Given the description of an element on the screen output the (x, y) to click on. 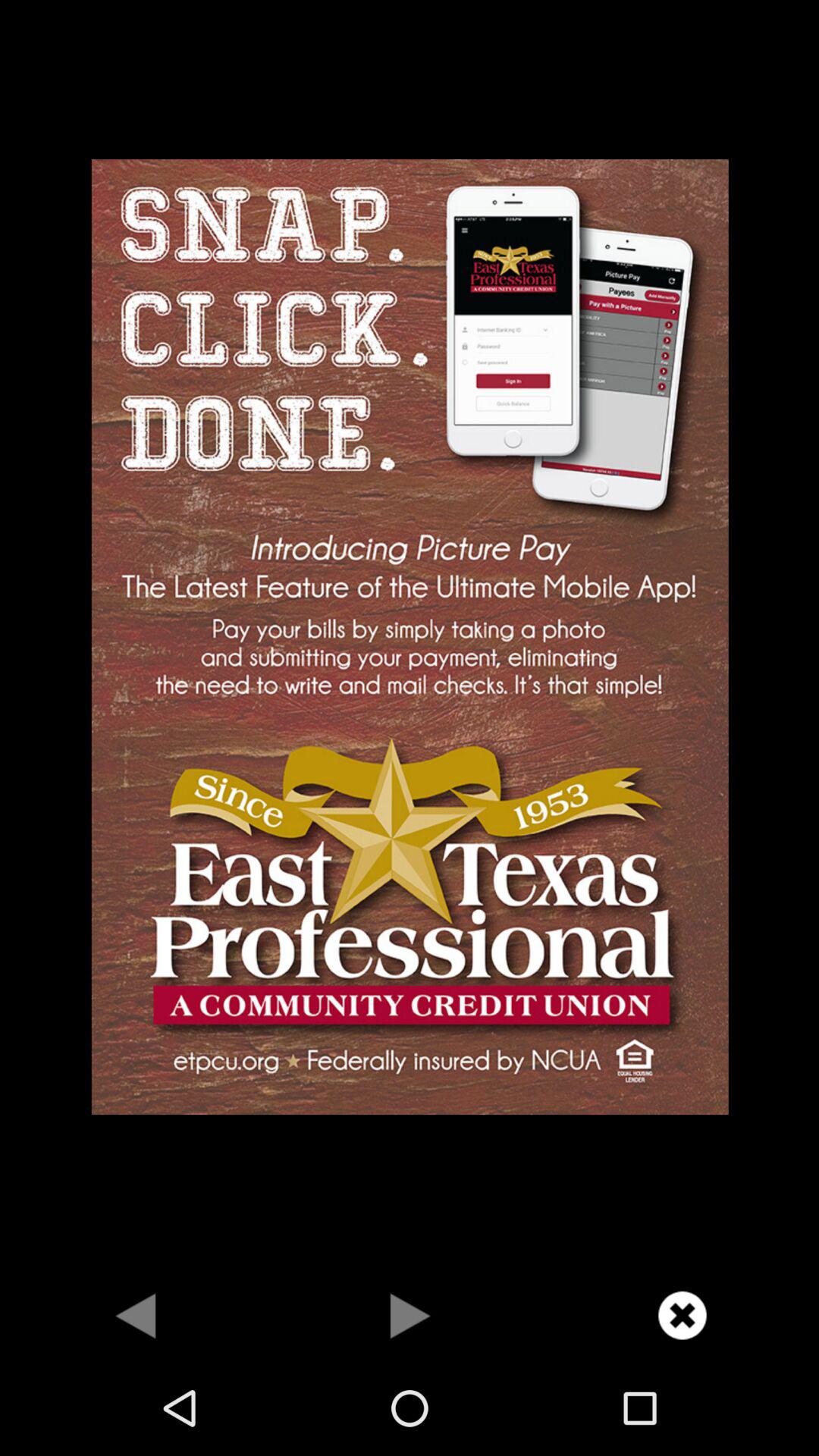
return to a previous screen (136, 1315)
